Given the description of an element on the screen output the (x, y) to click on. 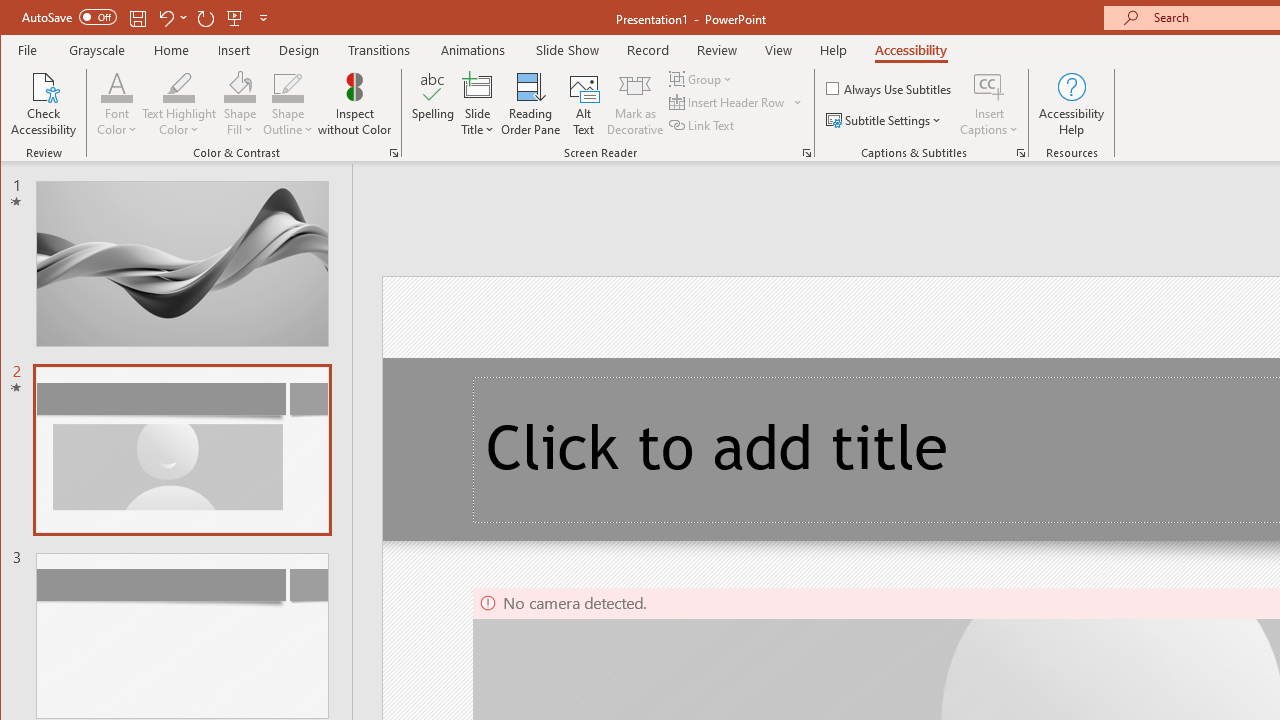
Always Use Subtitles (890, 88)
Slide Title (477, 86)
Reading Order Pane (531, 104)
Mark as Decorative (635, 104)
Check Accessibility (43, 104)
